Given the description of an element on the screen output the (x, y) to click on. 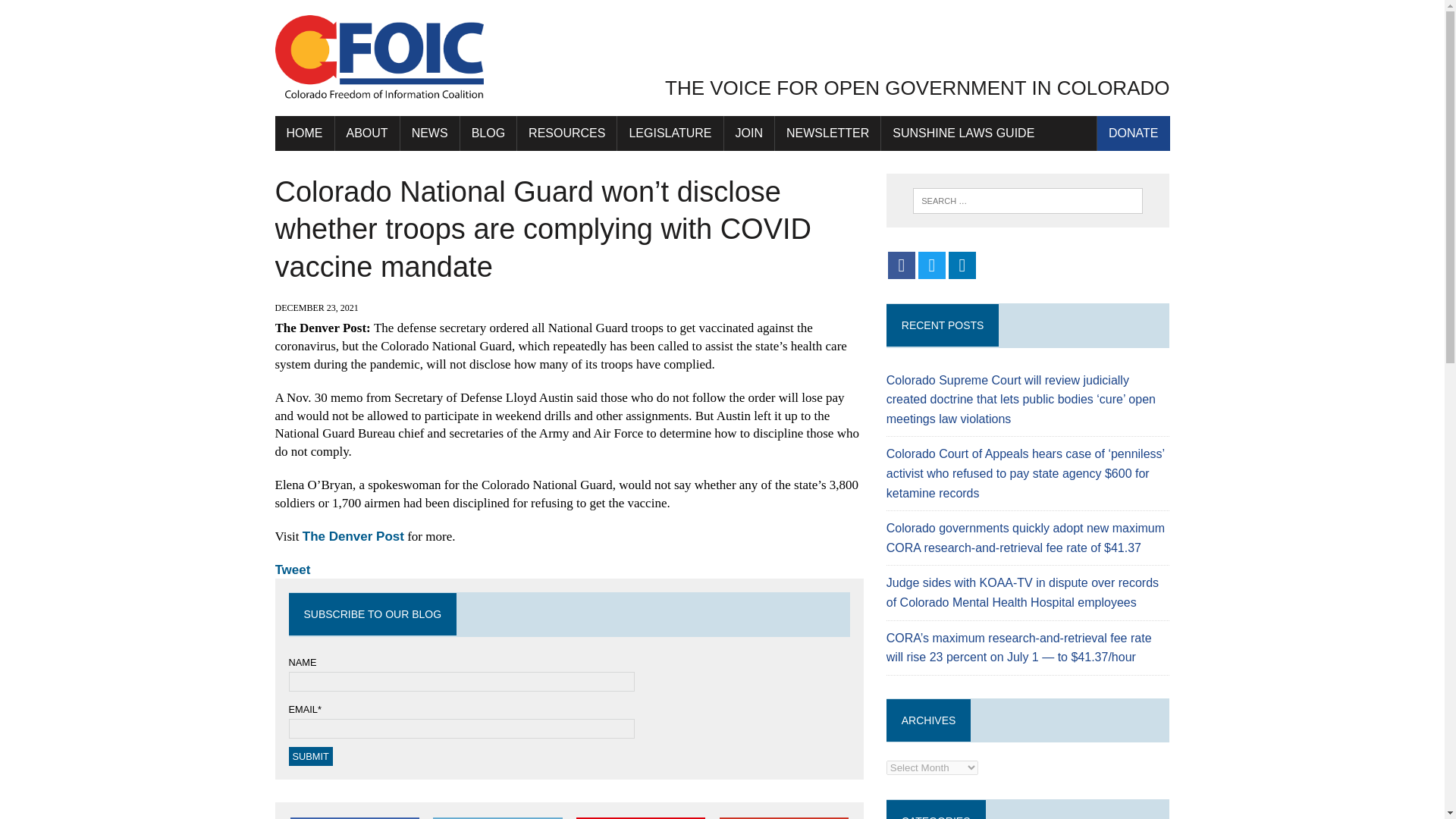
Facebook (901, 265)
Pin This Post (640, 818)
Tweet This Post (497, 818)
LinkedIn (962, 265)
LEGISLATURE (669, 133)
Submit (309, 755)
Colorado Freedom of Information Coalition (722, 57)
BLOG (488, 133)
Twitter (931, 265)
HOME (304, 133)
Share on Facebook (354, 818)
JOIN (748, 133)
NEWSLETTER (827, 133)
THE VOICE FOR OPEN GOVERNMENT IN COLORADO (722, 57)
ABOUT (366, 133)
